Given the description of an element on the screen output the (x, y) to click on. 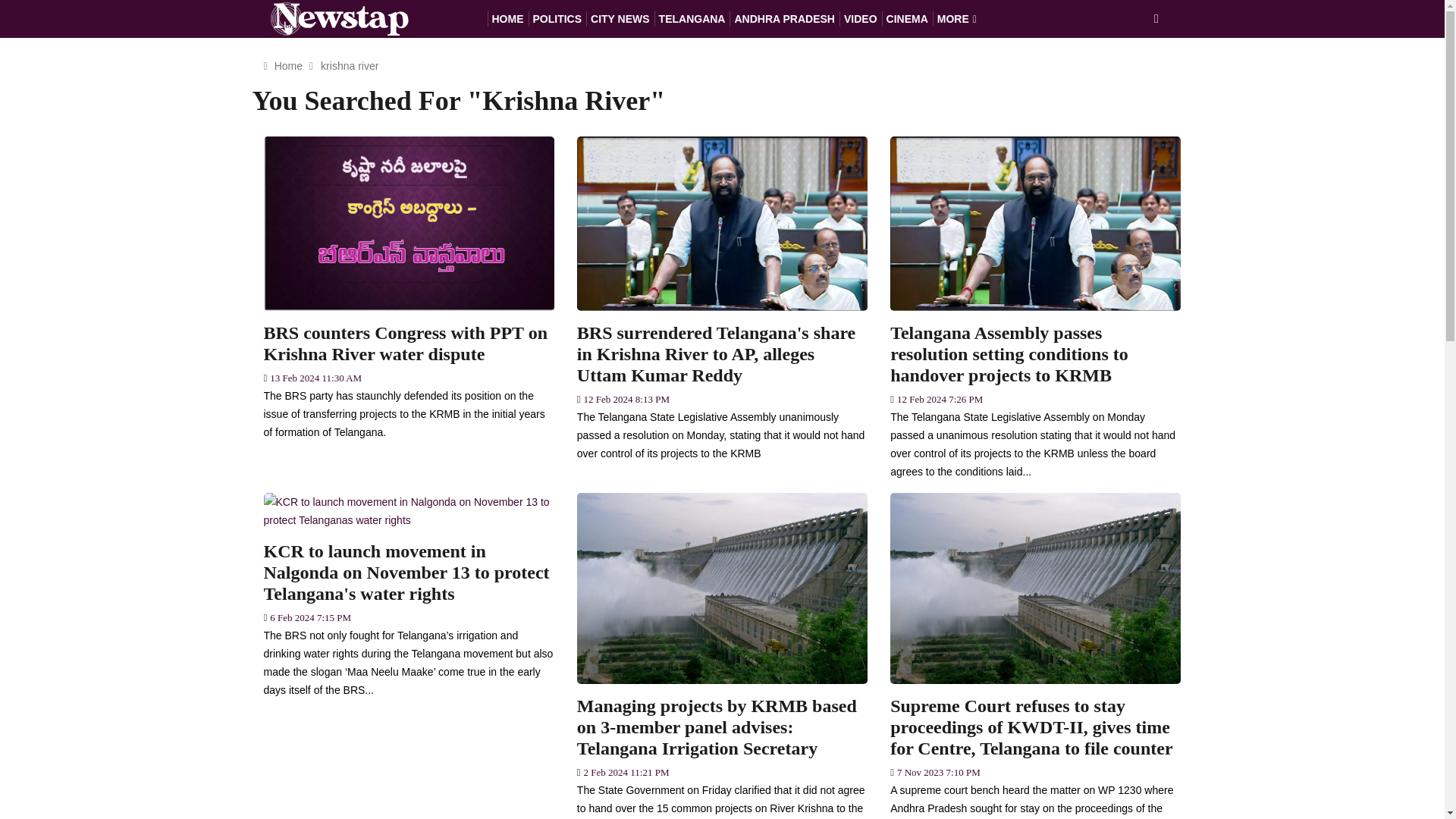
CITY NEWS (619, 18)
POLITICS (556, 18)
